Given the description of an element on the screen output the (x, y) to click on. 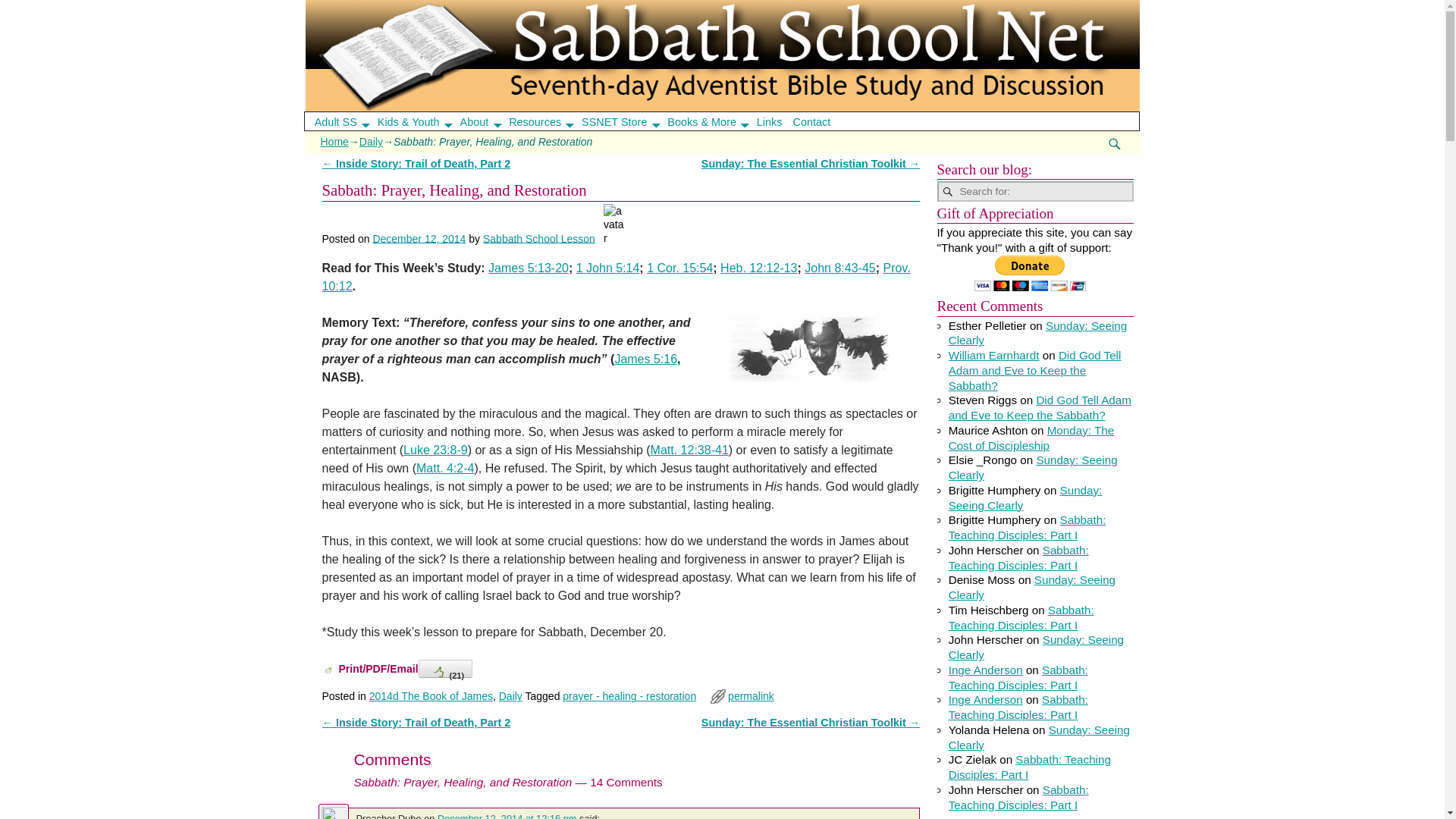
About (485, 121)
Adult SS (346, 121)
Permalink to Sabbath: Prayer, Healing, and Restoration (751, 695)
View all posts by Sabbath School Lesson (539, 237)
8:00 am (418, 237)
Resources (545, 121)
